Given the description of an element on the screen output the (x, y) to click on. 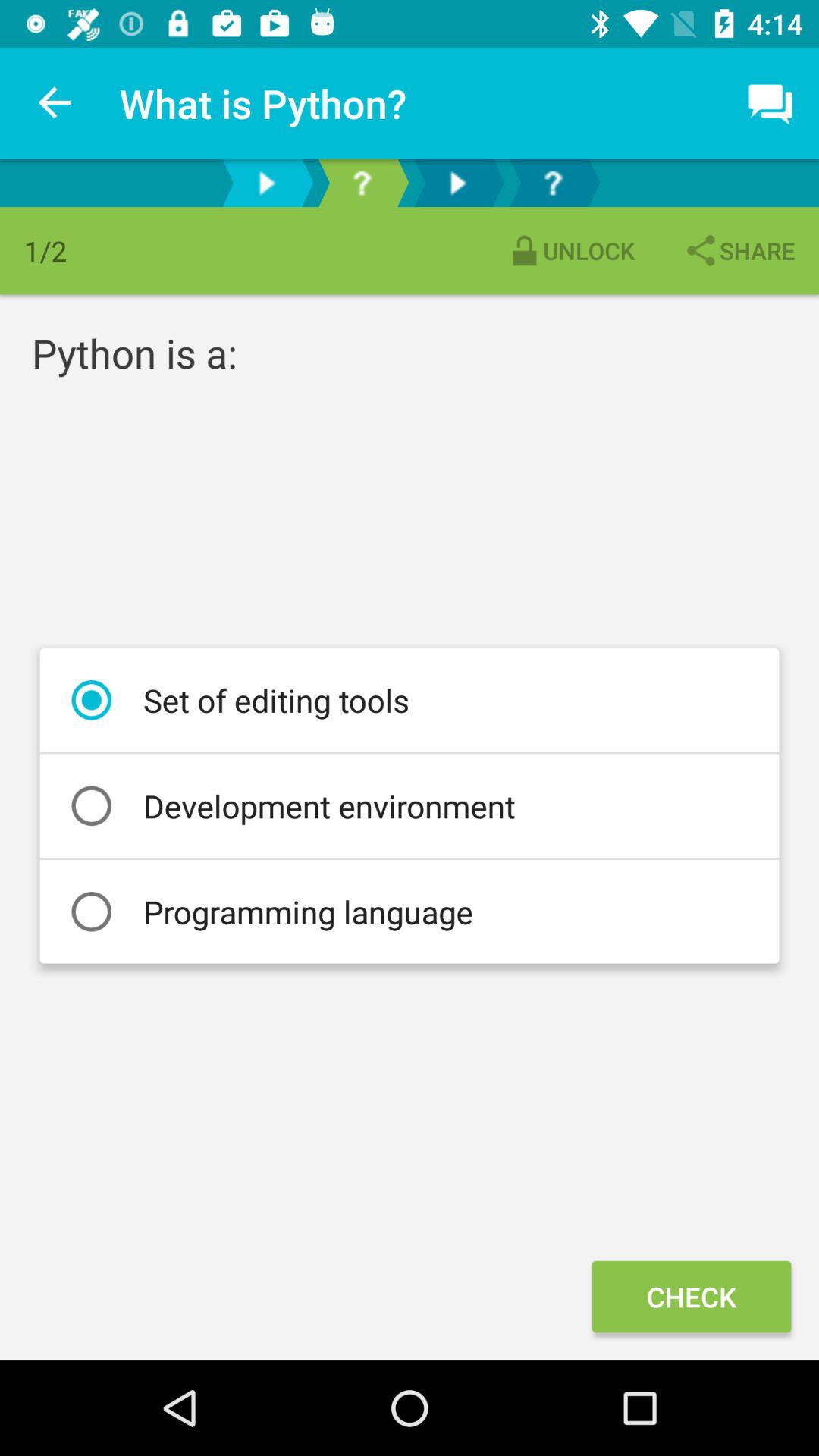
help (361, 183)
